Given the description of an element on the screen output the (x, y) to click on. 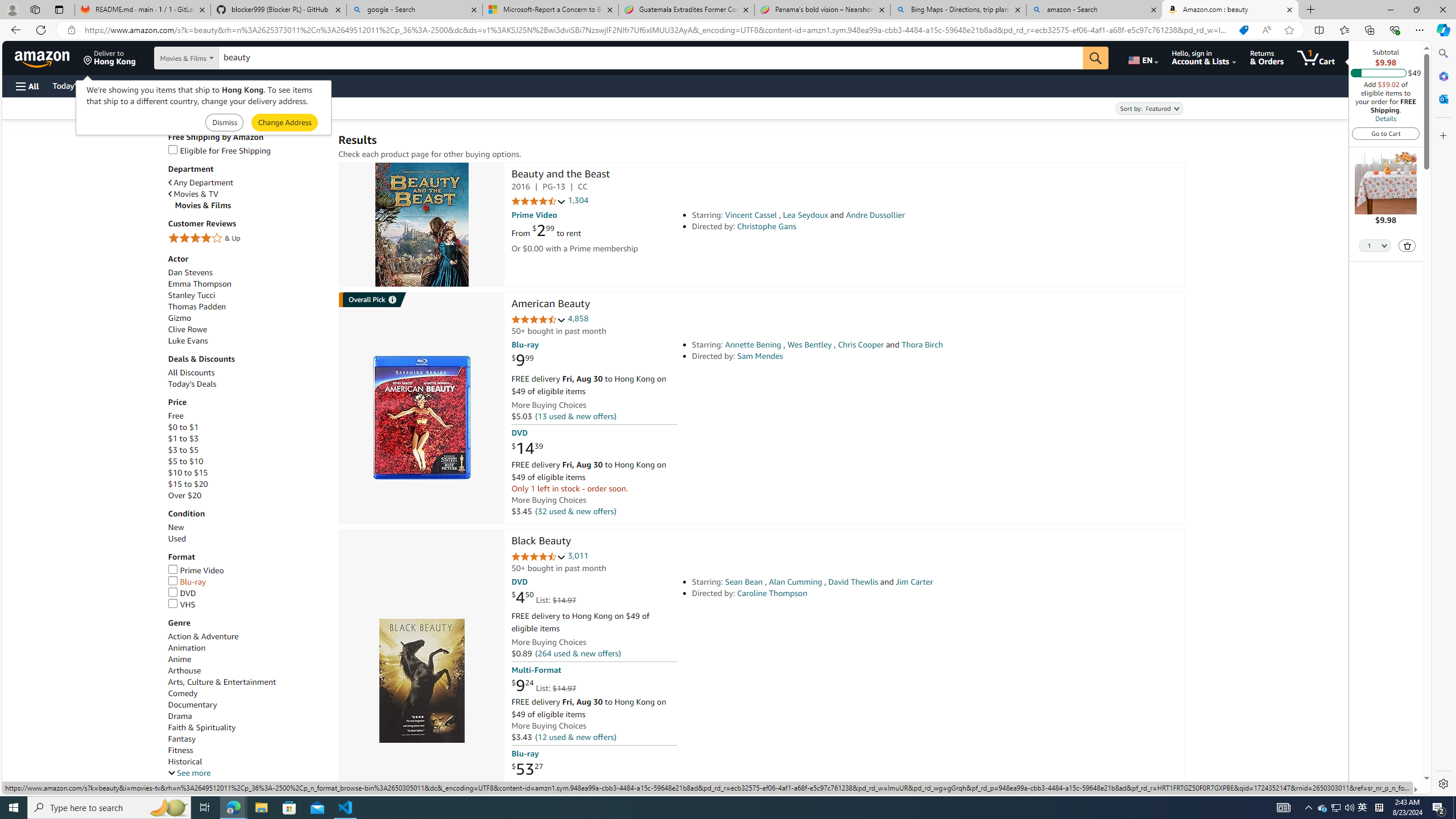
$5 to $10 (185, 461)
Delete (1407, 245)
$15 to $20 (187, 484)
Used (247, 538)
amazon - Search (1094, 9)
Wes Bentley (809, 344)
Fantasy (181, 738)
DVD (181, 592)
Directed by: Caroline Thompson (850, 593)
